Given the description of an element on the screen output the (x, y) to click on. 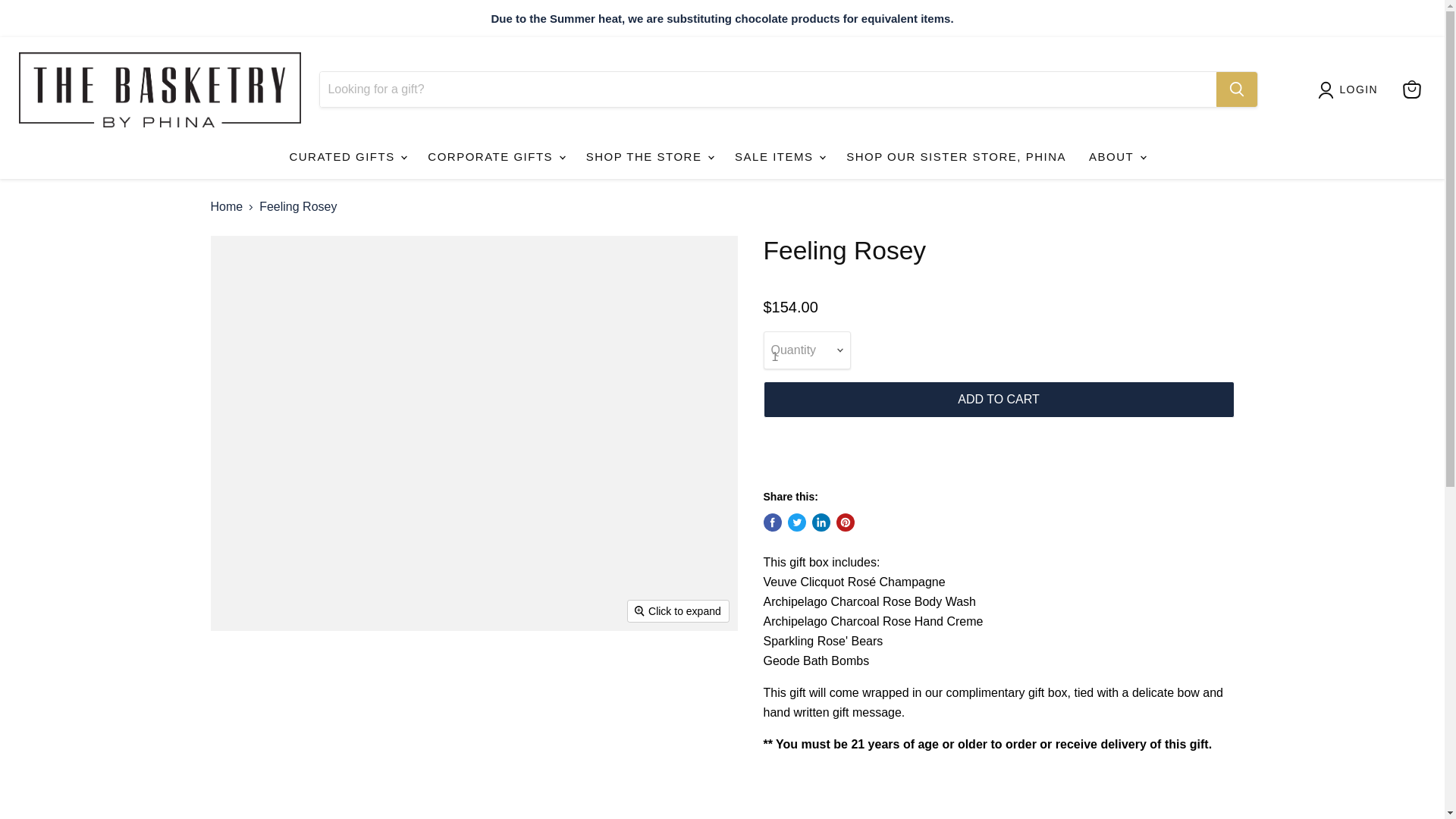
CORPORATE GIFTS (494, 156)
View cart (1411, 89)
SHOP THE STORE (649, 156)
CURATED GIFTS (347, 156)
LOGIN (1358, 89)
